Given the description of an element on the screen output the (x, y) to click on. 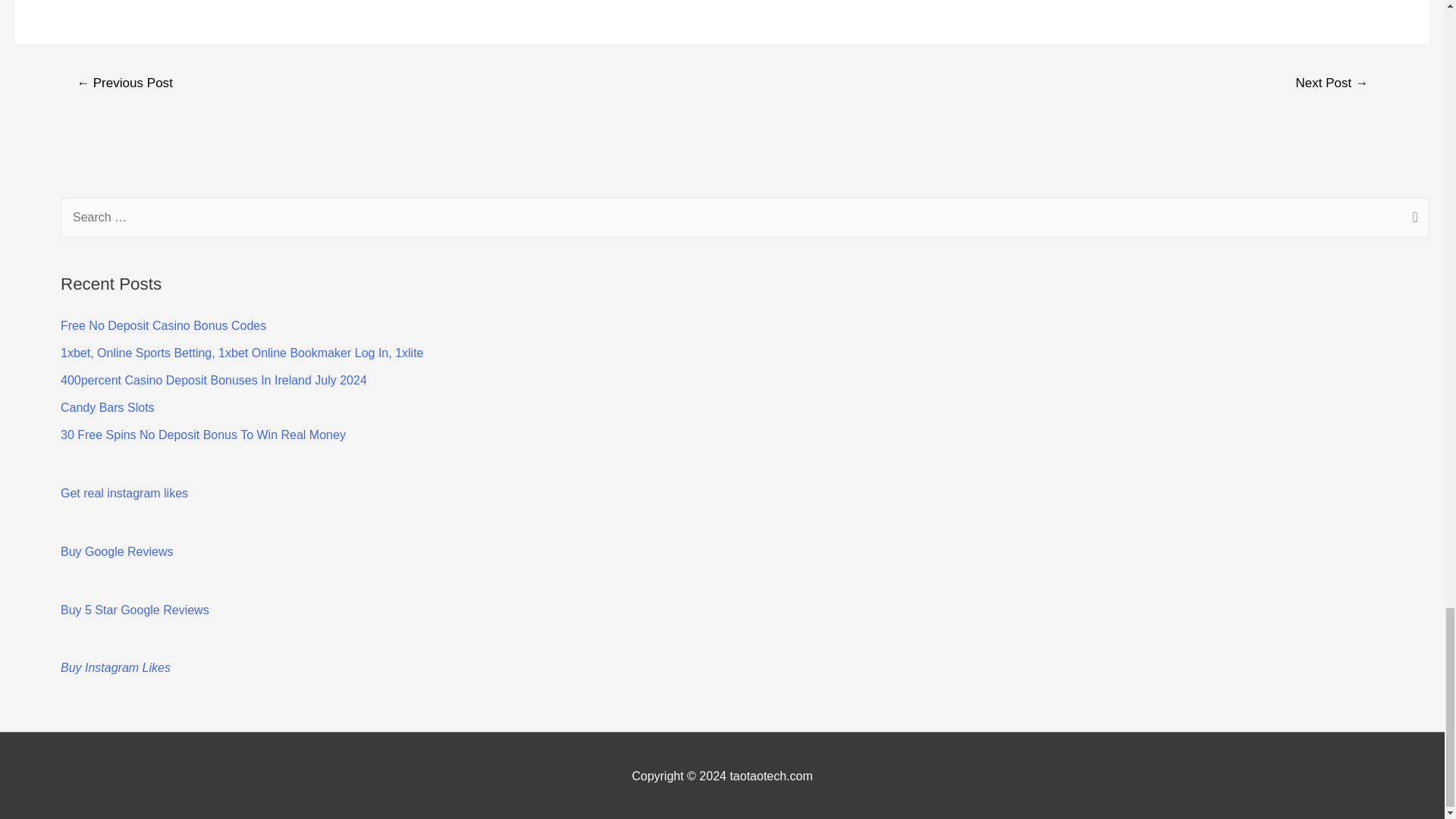
Buy Google Reviews (117, 551)
Buy 5 Star Google Reviews (135, 609)
Buy Instagram Likes (115, 667)
Candy Bars Slots (107, 407)
Free No Deposit Casino Bonus Codes (163, 325)
Get real instagram likes (124, 492)
30 Free Spins No Deposit Bonus To Win Real Money (203, 434)
400percent Casino Deposit Bonuses In Ireland July 2024 (213, 379)
